Given the description of an element on the screen output the (x, y) to click on. 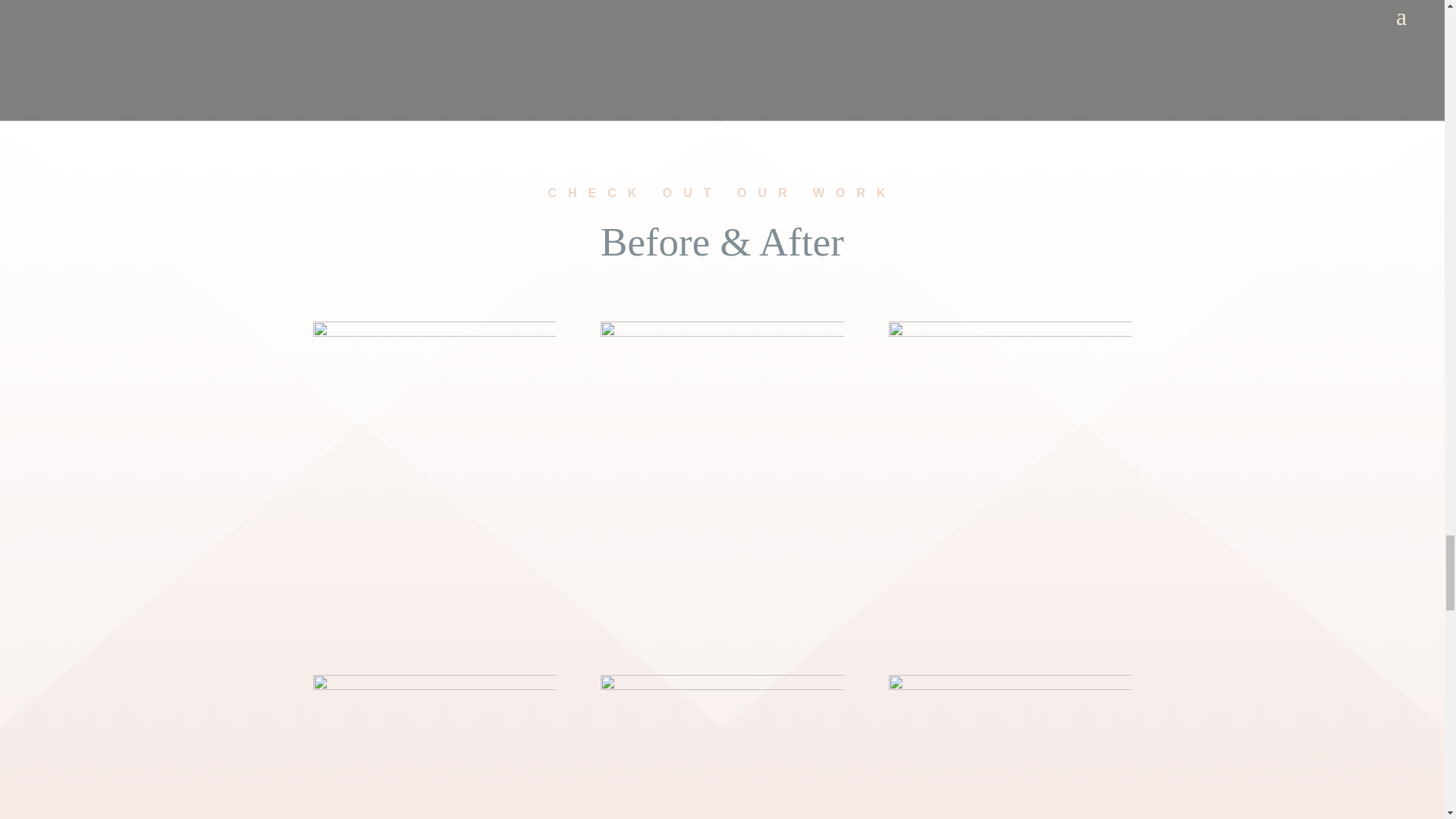
1 (433, 477)
4 (721, 477)
5 (1009, 477)
8 (721, 746)
7 (433, 746)
